Given the description of an element on the screen output the (x, y) to click on. 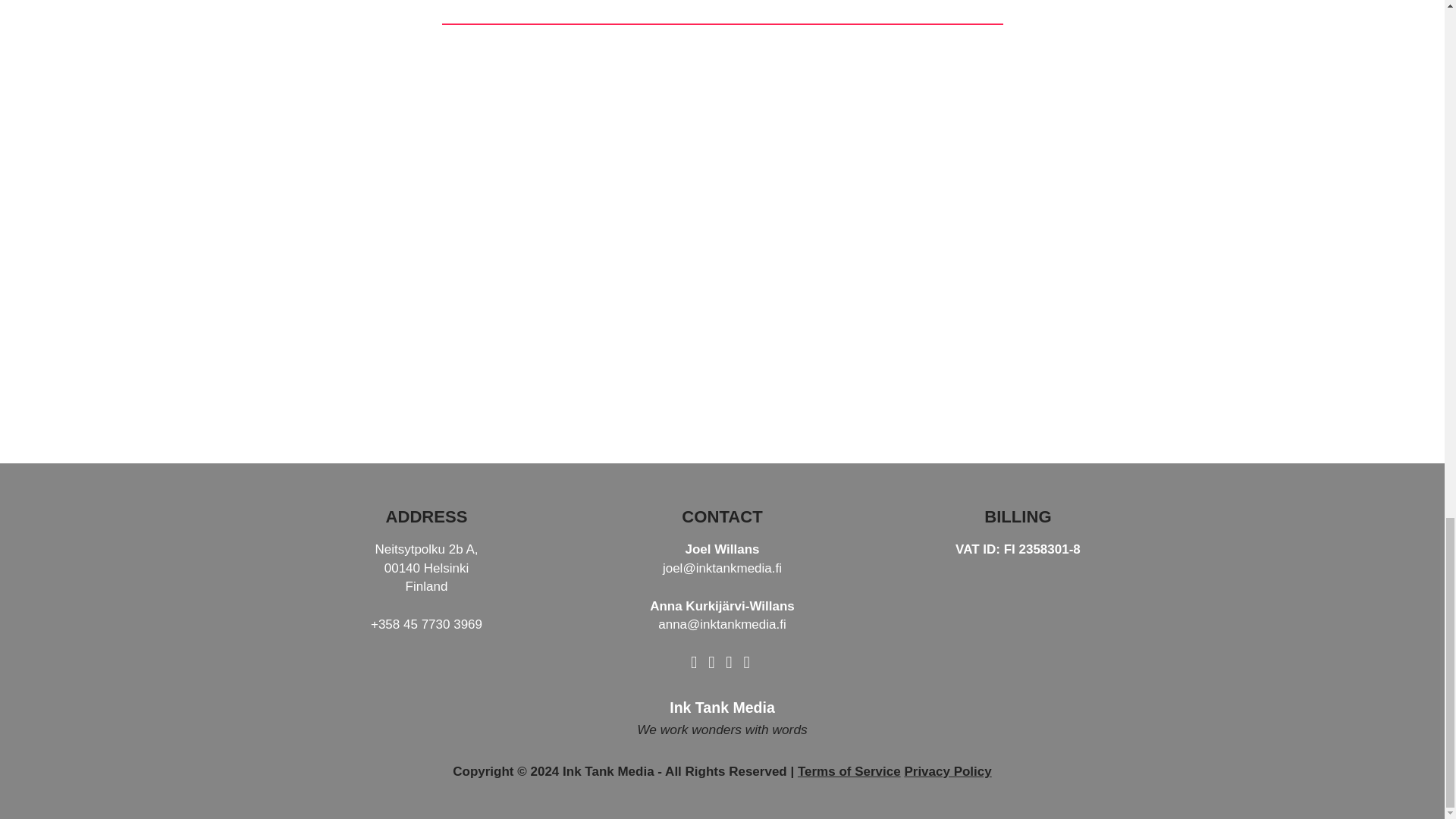
Terms of Service (849, 771)
Privacy Policy (947, 771)
